Given the description of an element on the screen output the (x, y) to click on. 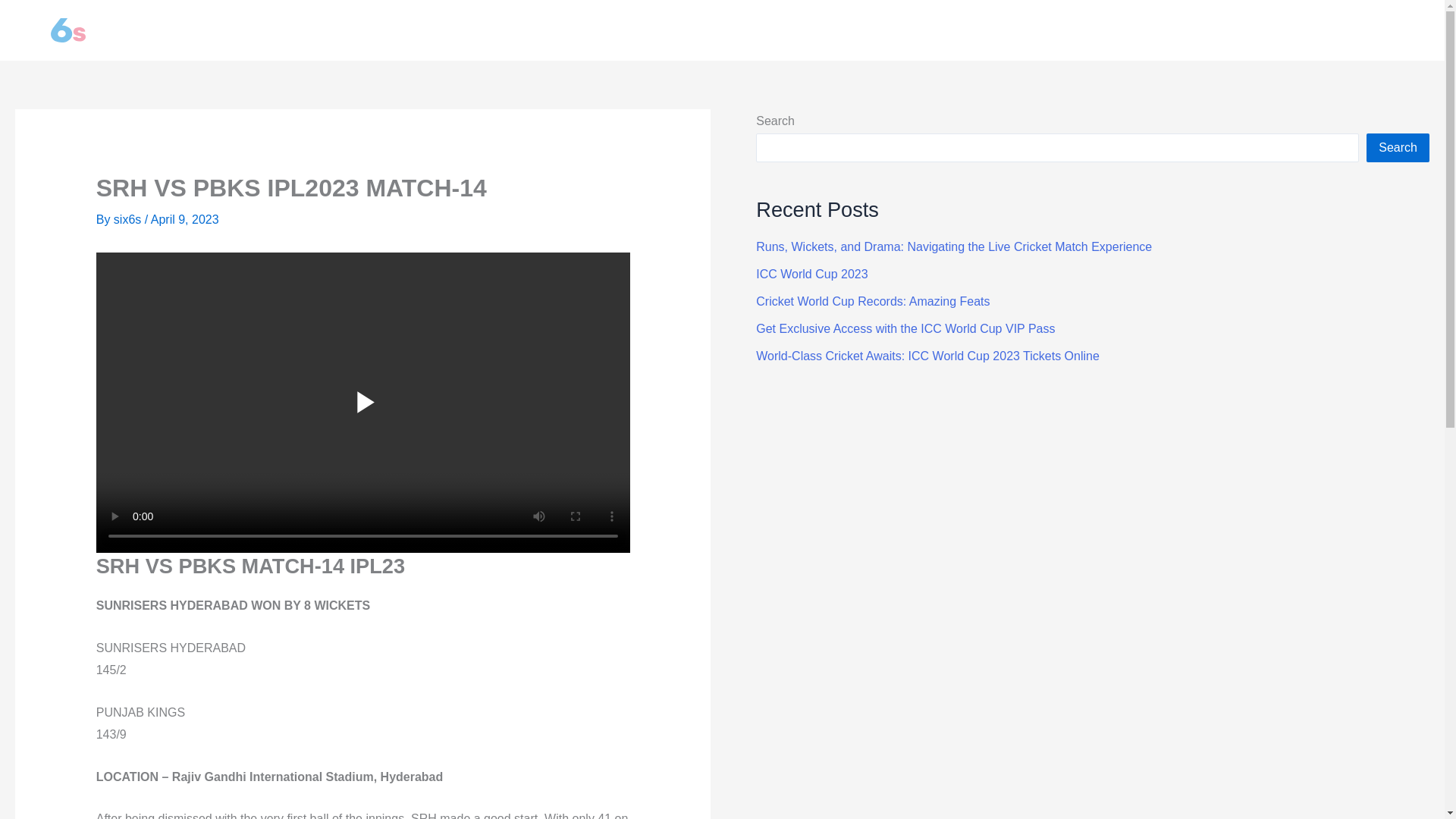
ICC World Cup 2023 (811, 273)
Cricket World Cup Records: Amazing Feats (872, 300)
Blog Posts (1388, 30)
six6s (128, 219)
Home (1246, 30)
Search (1398, 147)
IPL 2023 (1310, 30)
Get Exclusive Access with the ICC World Cup VIP Pass (904, 328)
